Given the description of an element on the screen output the (x, y) to click on. 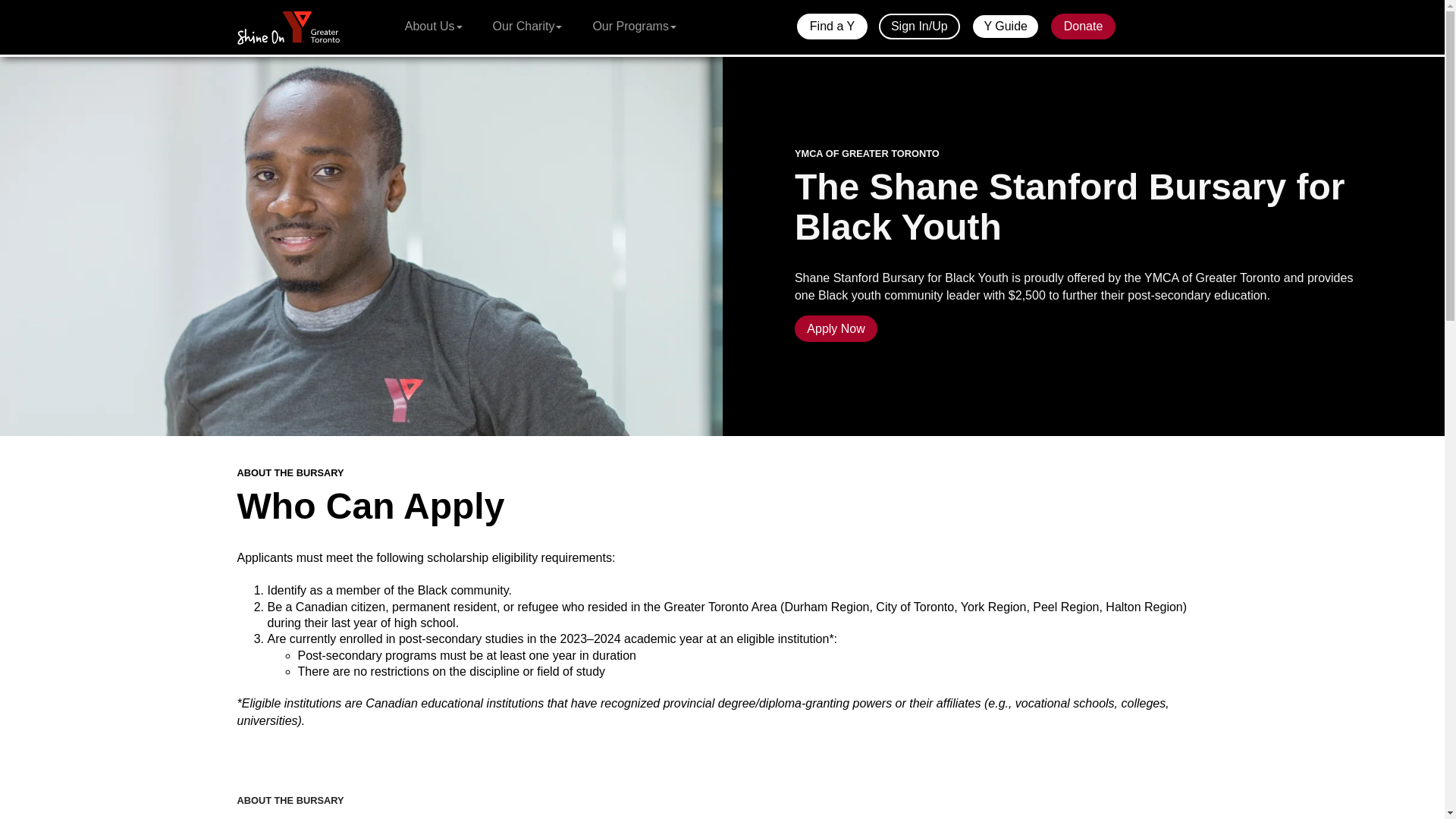
Our Charity (527, 25)
Our Programs (633, 25)
About Us (433, 25)
YMCA of Greater Toronto (287, 26)
